Given the description of an element on the screen output the (x, y) to click on. 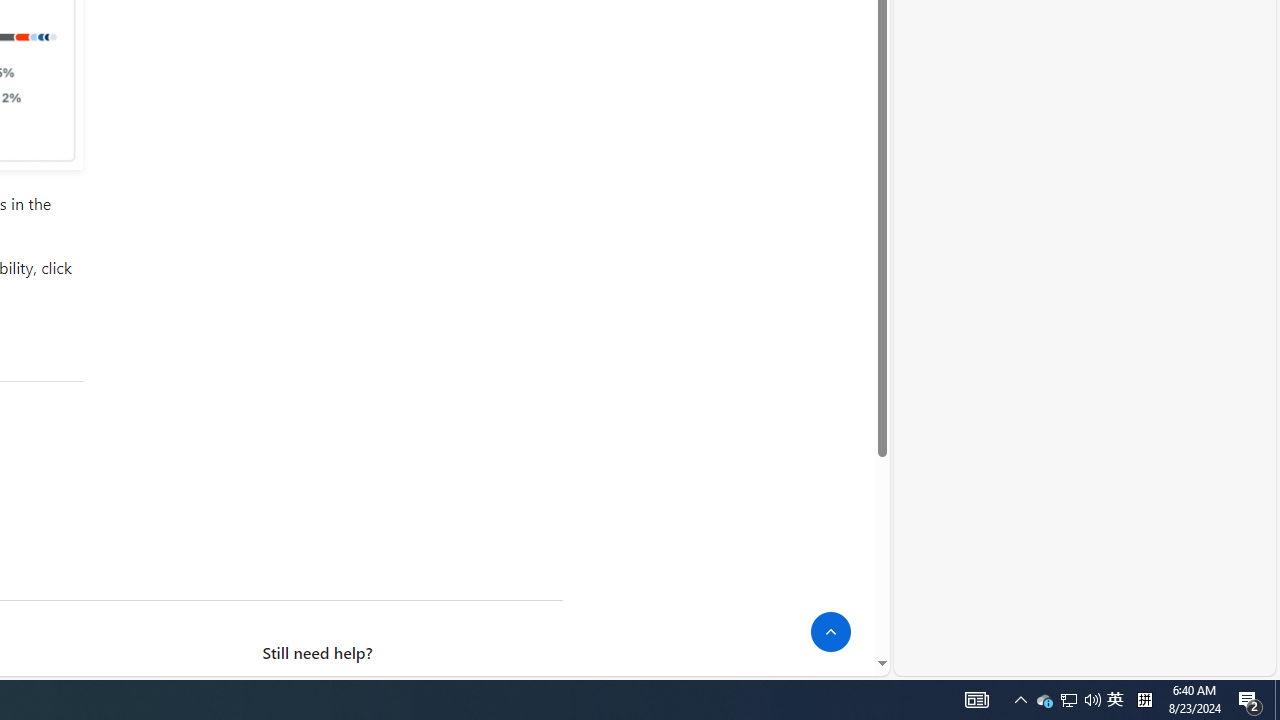
Scroll to top (831, 632)
Scroll to top (831, 632)
